Given the description of an element on the screen output the (x, y) to click on. 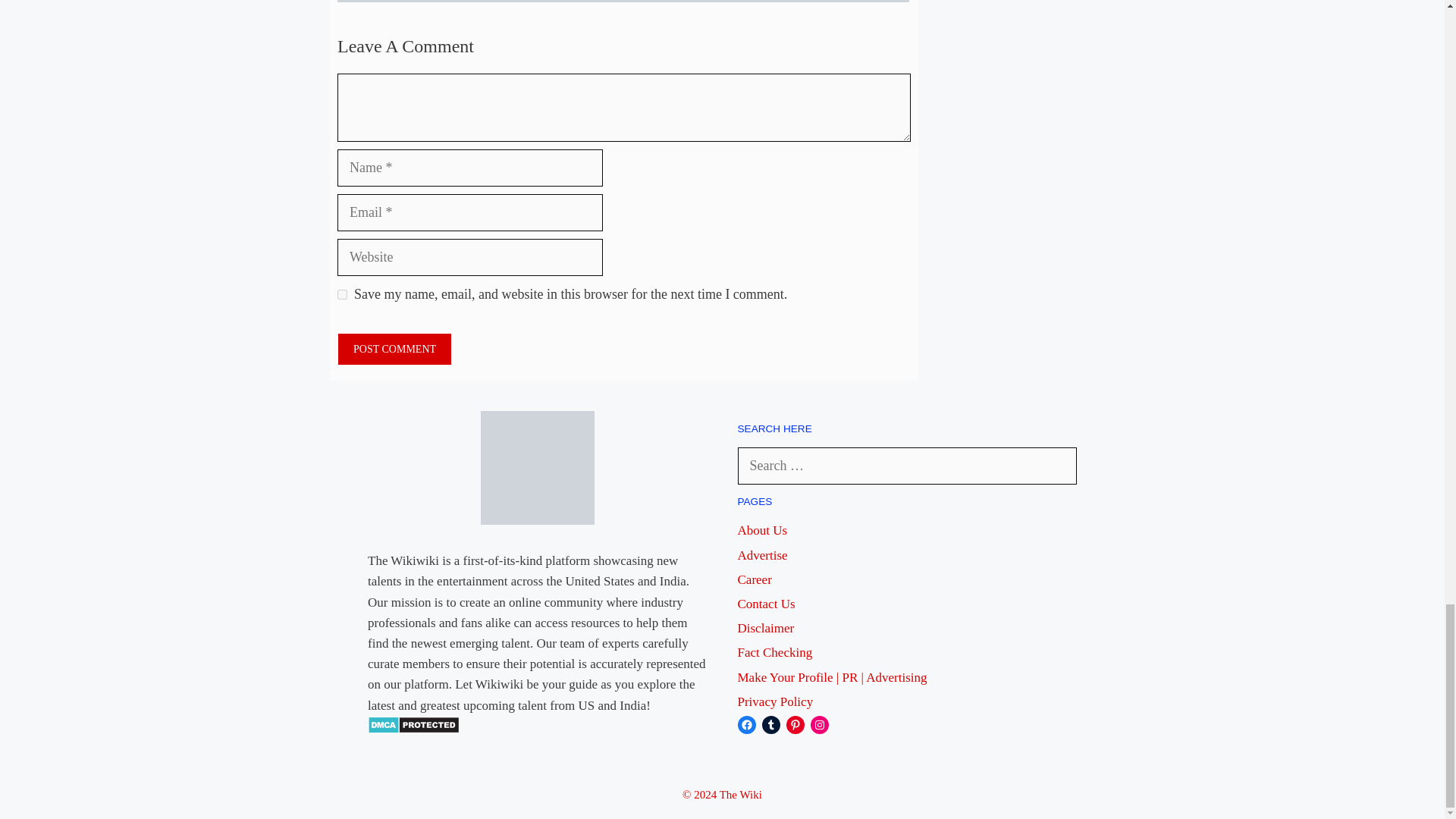
Post Comment (394, 348)
Post Comment (394, 348)
Search for: (906, 465)
DMCA.com Protection Status (414, 729)
yes (342, 294)
